Given the description of an element on the screen output the (x, y) to click on. 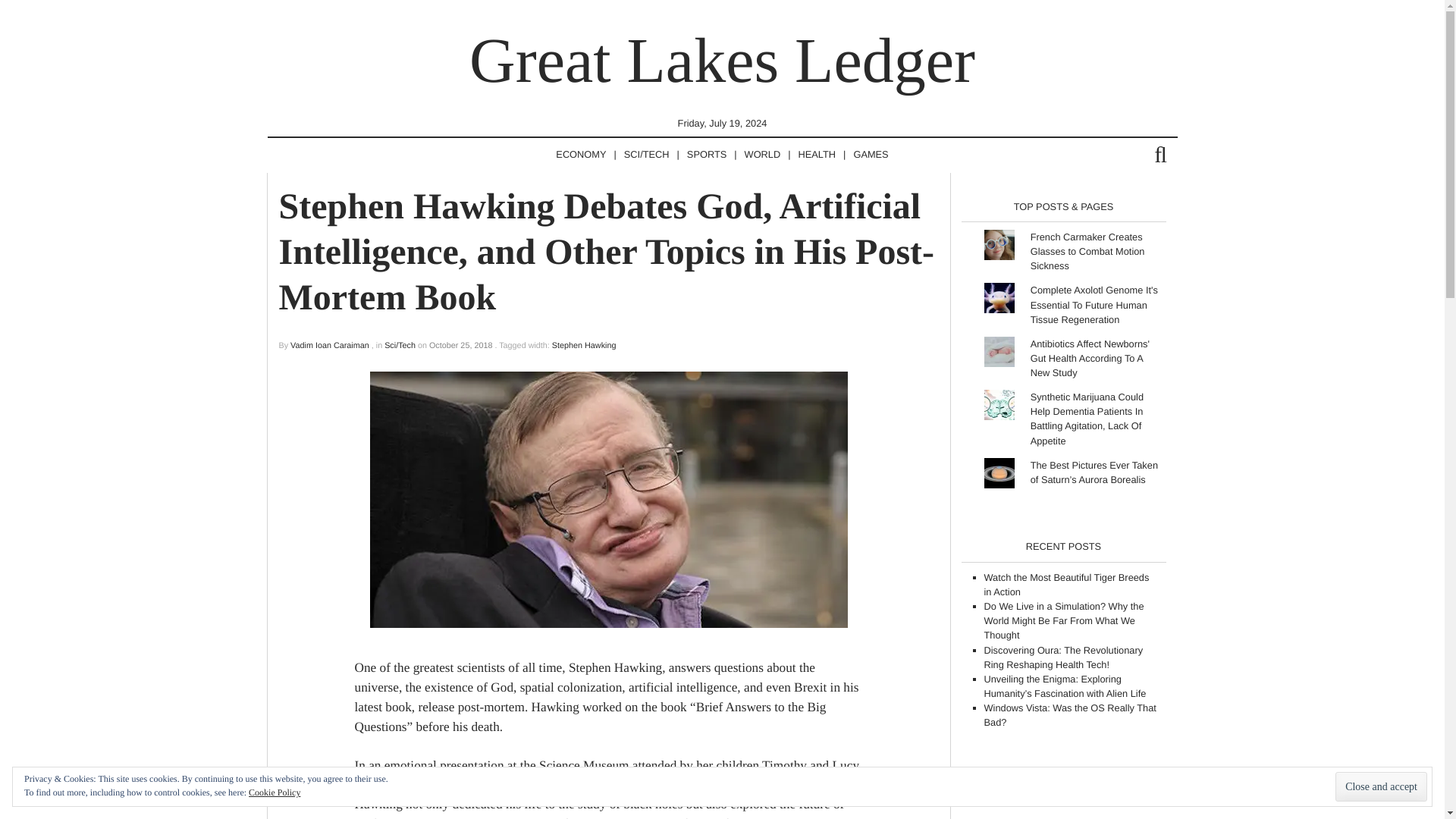
HEALTH (817, 154)
Windows Vista: Was the OS Really That Bad? (1070, 714)
SPORTS (706, 154)
French Carmaker Creates Glasses to Combat Motion Sickness (1087, 250)
Great Lakes Ledger (721, 60)
WORLD (762, 154)
French Carmaker Creates Glasses to Combat Motion Sickness (1087, 250)
Watch the Most Beautiful Tiger Breeds in Action (1067, 584)
ECONOMY (580, 154)
Vadim Ioan Caraiman (329, 345)
